Given the description of an element on the screen output the (x, y) to click on. 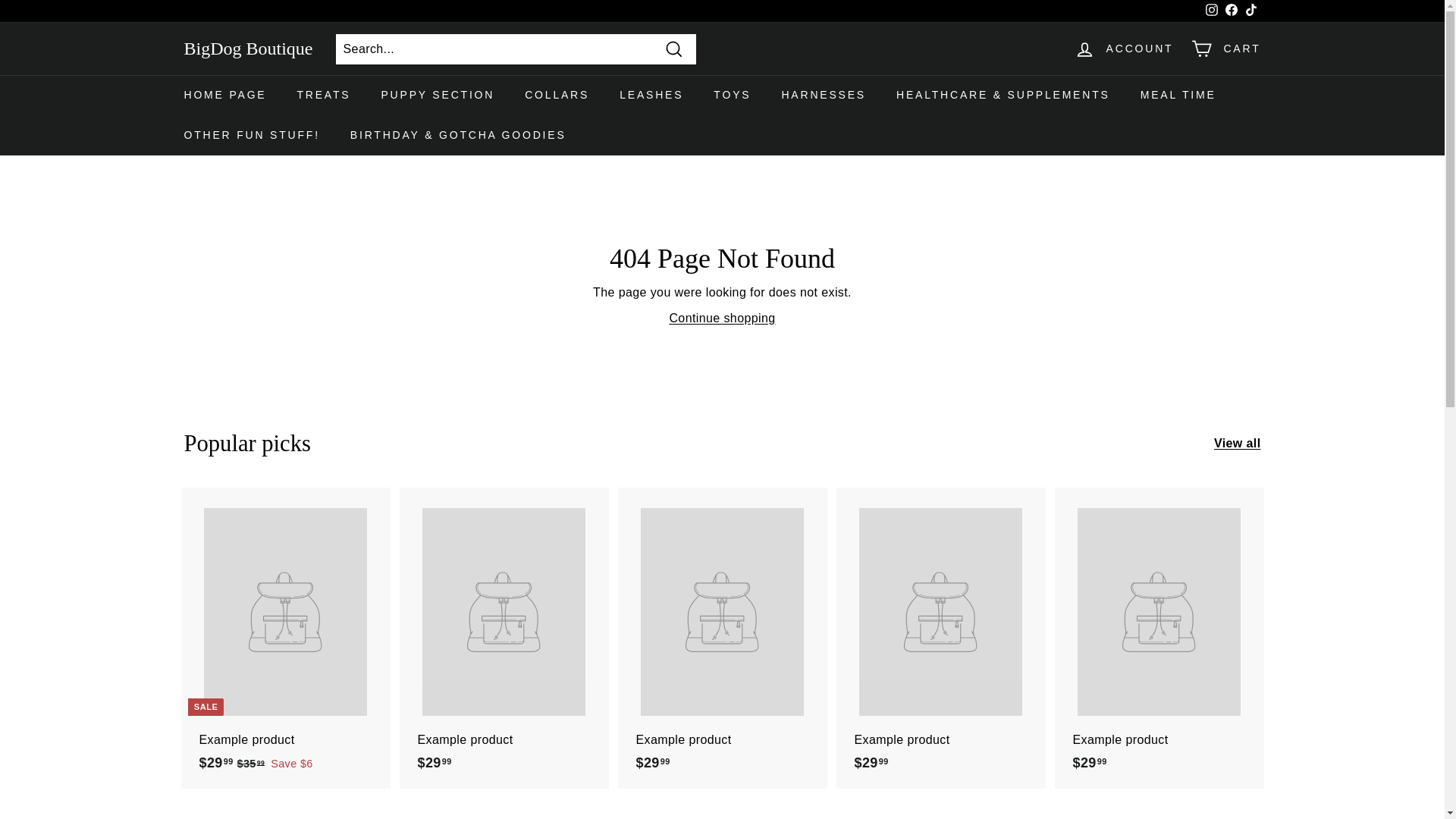
TREATS (323, 95)
PUPPY SECTION (437, 95)
ACCOUNT (1123, 48)
COLLARS (556, 95)
HOME PAGE (224, 95)
BigDog Boutique (248, 48)
